Given the description of an element on the screen output the (x, y) to click on. 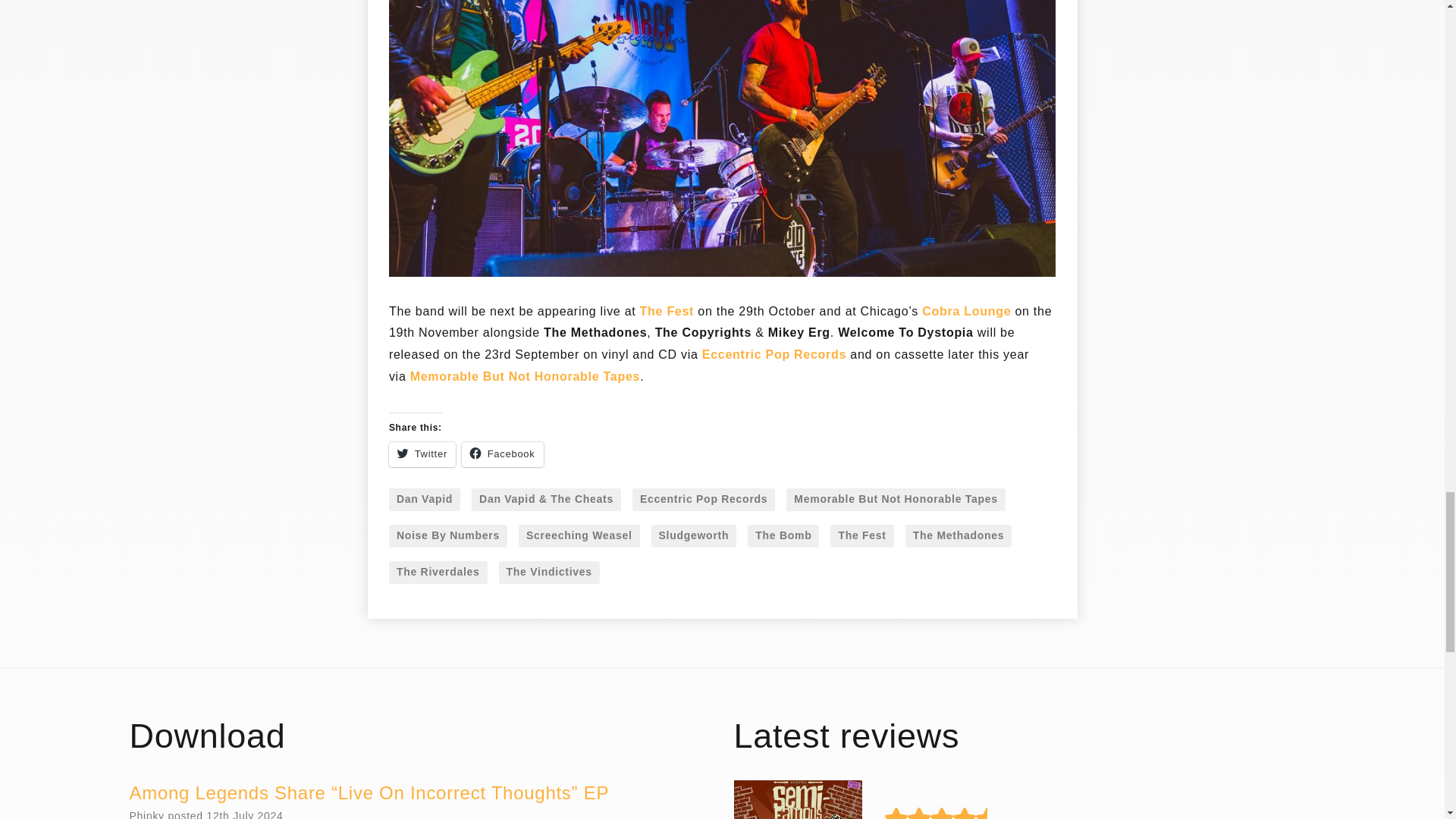
Click to share on Twitter (421, 454)
Eccentric Pop Records (773, 355)
Click to share on Facebook (502, 454)
The Riverdales (437, 572)
The Methadones (958, 535)
Eccentric Pop Records (702, 499)
The Bomb (783, 535)
Memorable But Not Honorable Tapes (525, 377)
Noise By Numbers (447, 535)
Cobra Lounge (965, 312)
The Vindictives (549, 572)
Twitter (421, 454)
Dan Vapid (424, 499)
Sludgeworth (693, 535)
The Fest (667, 312)
